Given the description of an element on the screen output the (x, y) to click on. 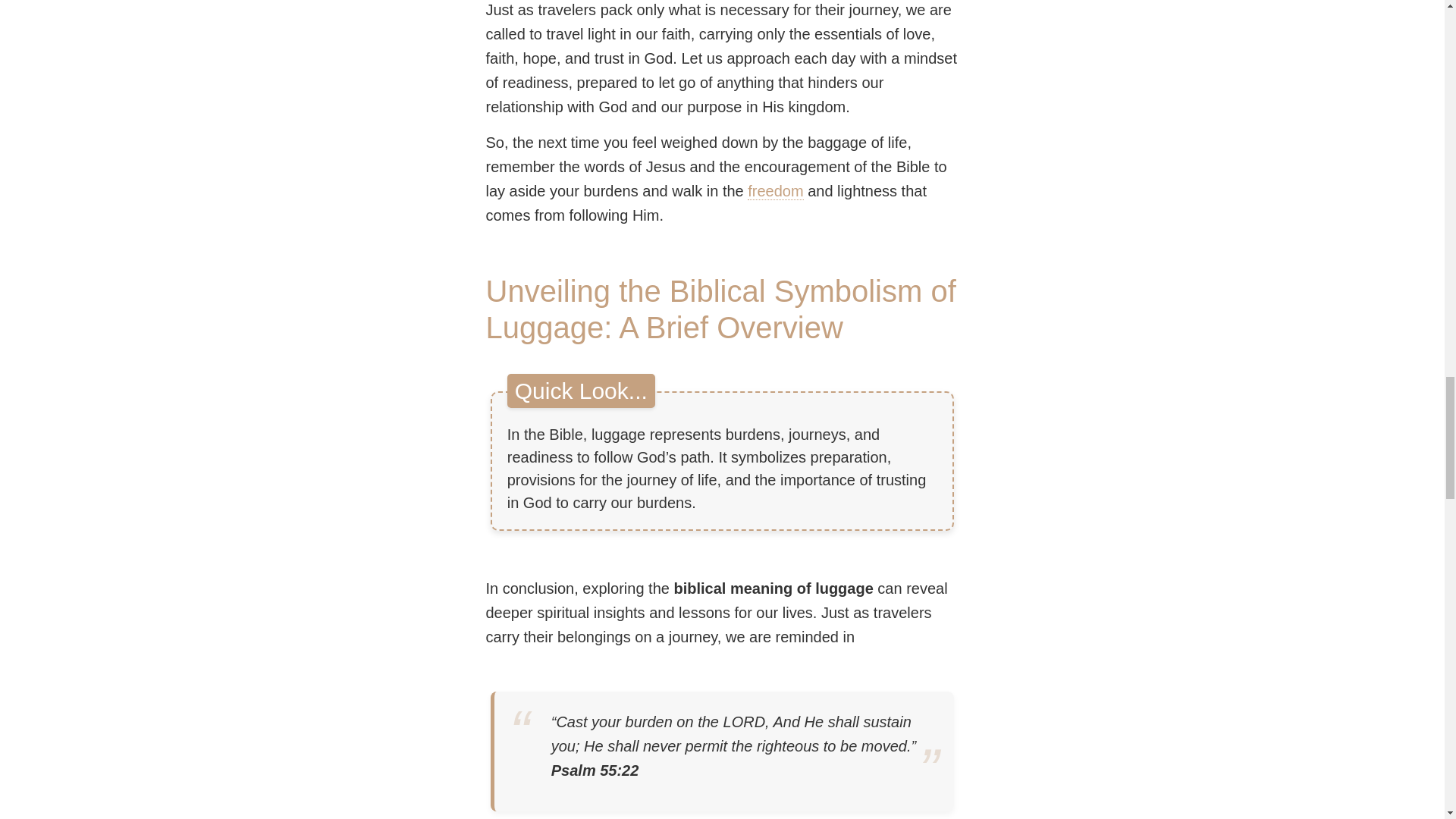
freedom (775, 190)
freedom (775, 190)
